Given the description of an element on the screen output the (x, y) to click on. 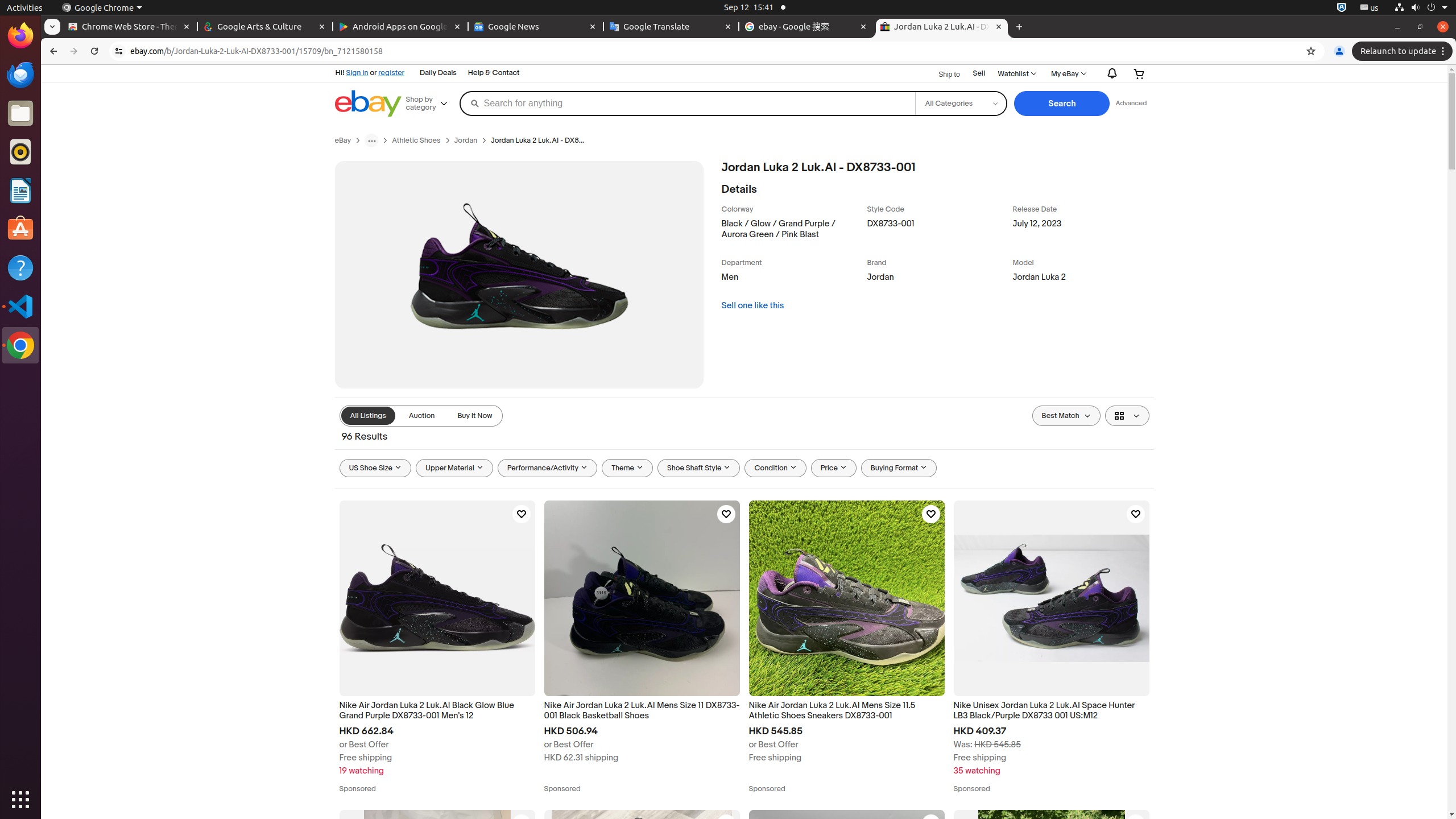
Ship to Element type: push-button (942, 73)
New Tab Element type: push-button (1019, 26)
Nike Air Jordan Luka 2 Luk.AI Mens Size 11 DX8733-001 Black Basketball Shoes Element type: link (641, 710)
:1.72/StatusNotifierItem Element type: menu (1341, 7)
Condition Element type: push-button (775, 467)
